Given the description of an element on the screen output the (x, y) to click on. 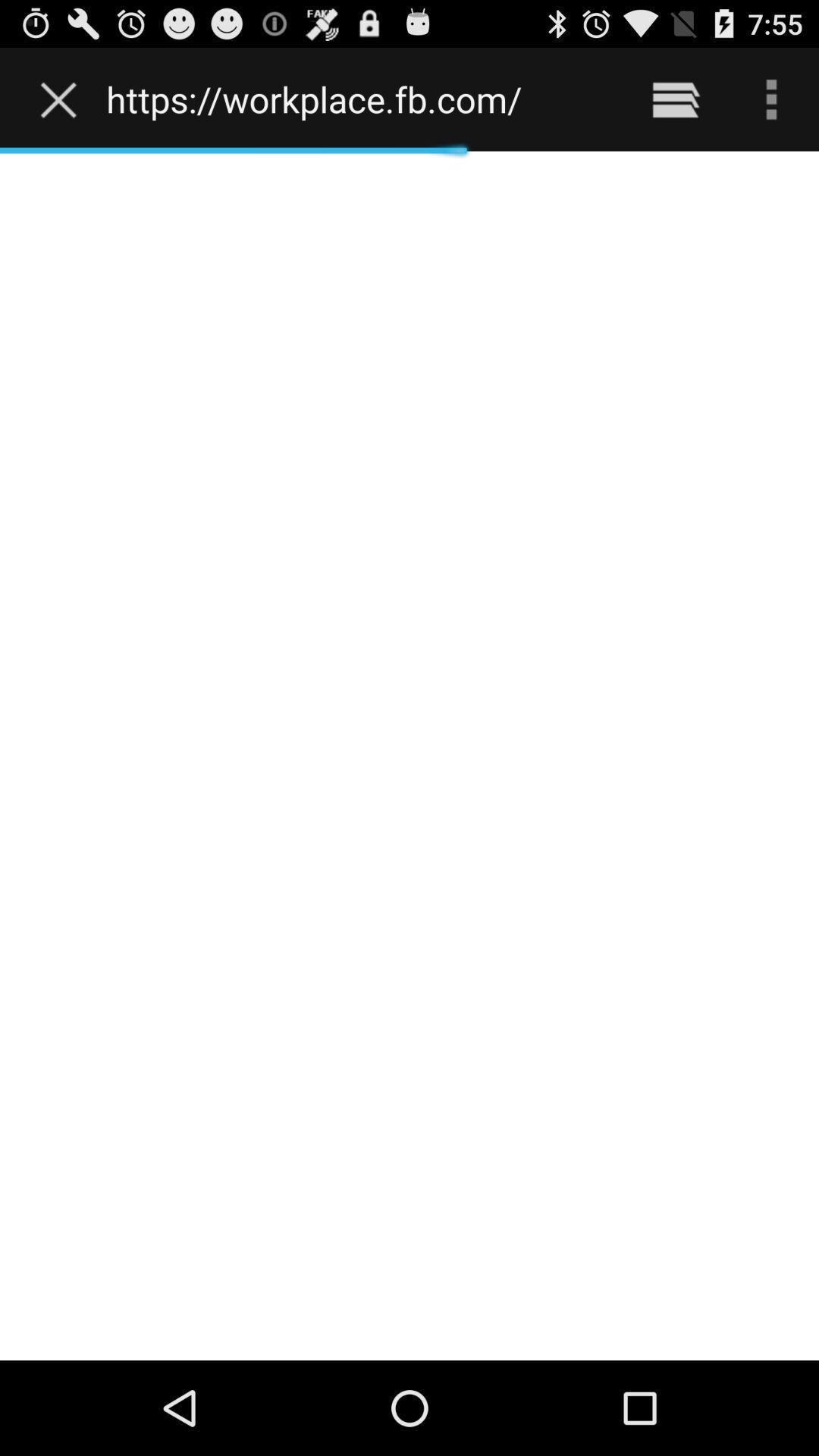
choose item next to the https workplace fb (675, 99)
